Given the description of an element on the screen output the (x, y) to click on. 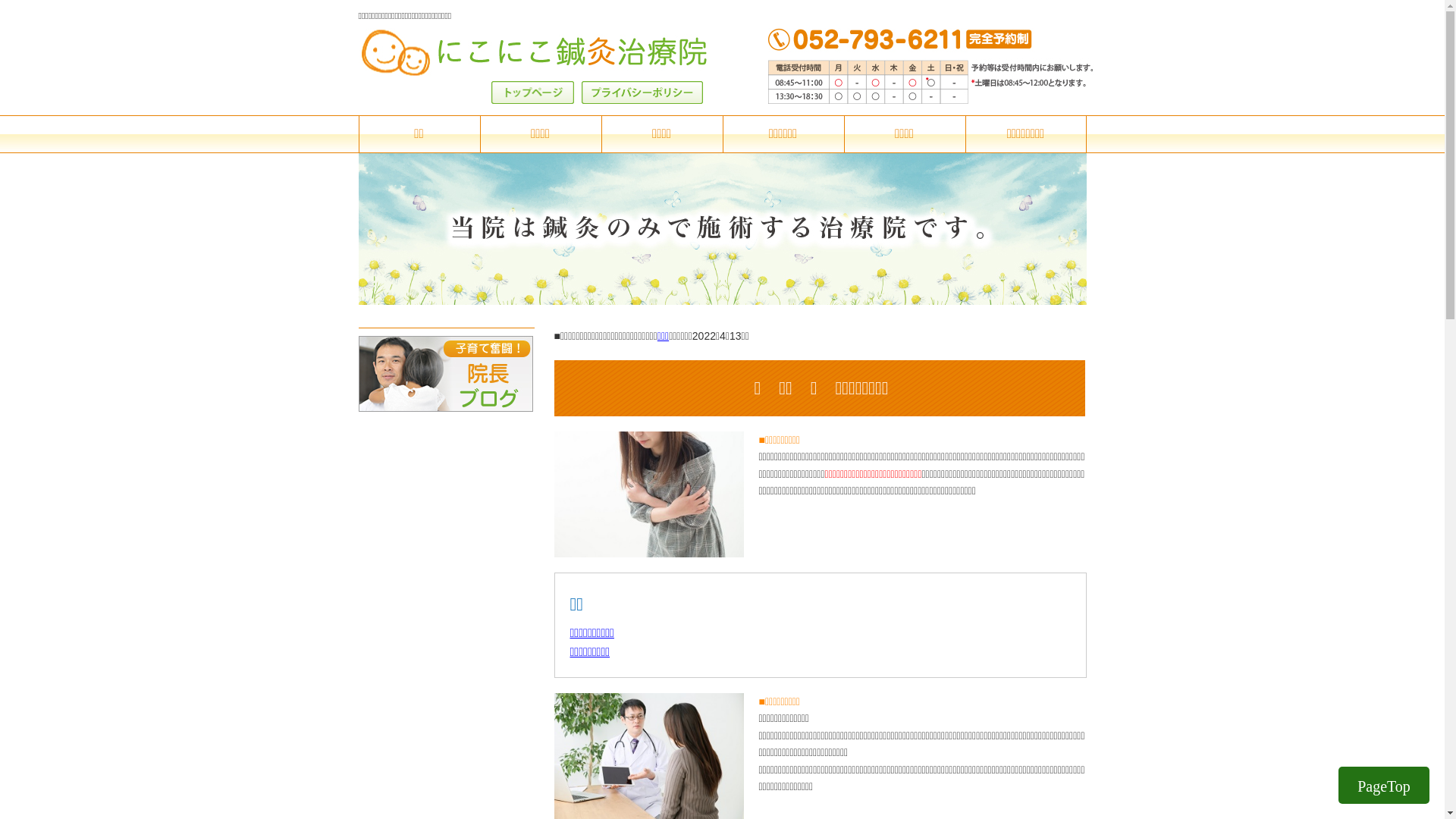
PageTop Element type: text (1383, 784)
